Given the description of an element on the screen output the (x, y) to click on. 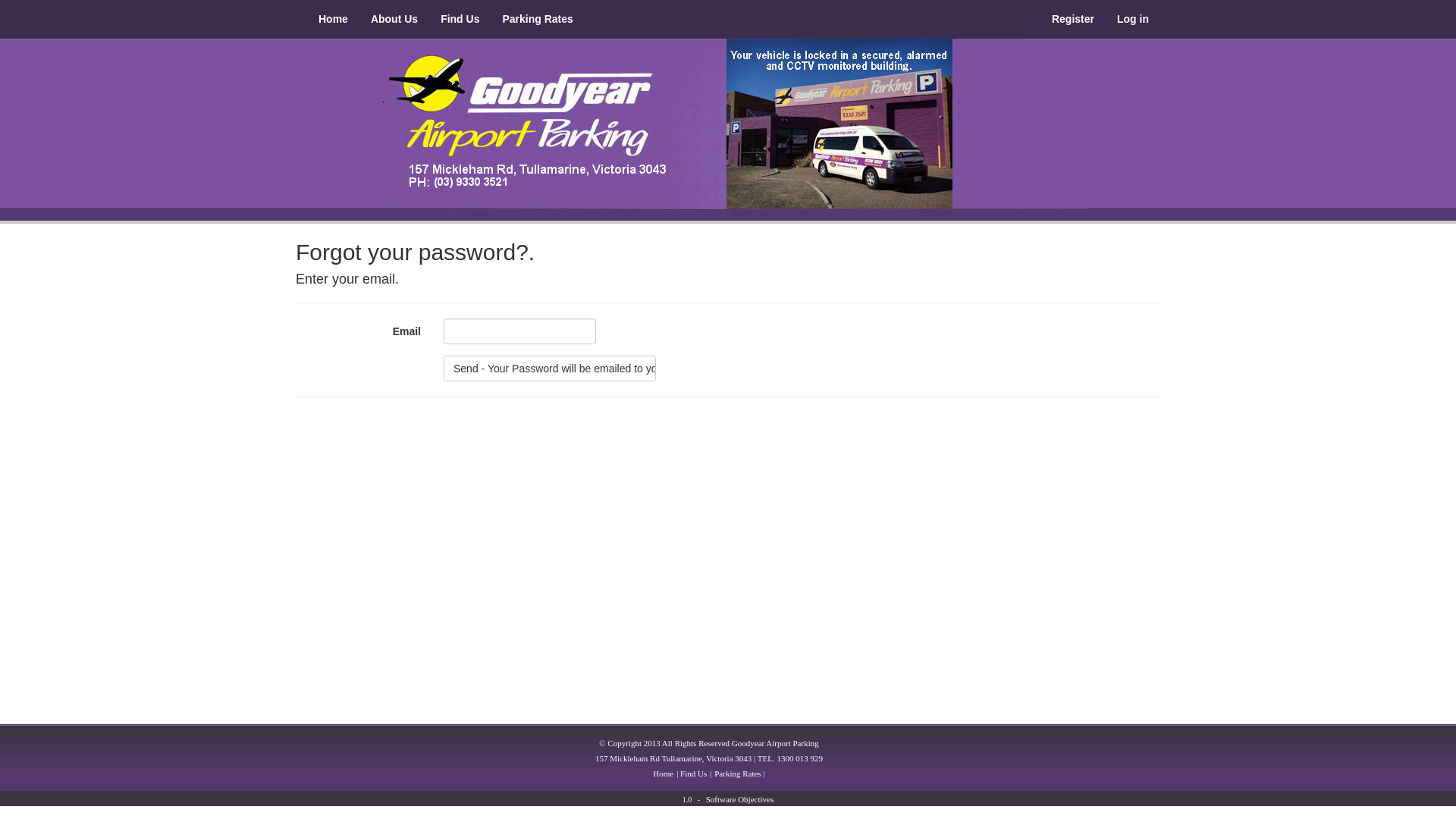
Parking Rates Element type: text (536, 18)
About Us Element type: text (394, 18)
Home Element type: text (333, 18)
Software Objectives Element type: text (740, 798)
Find Us Element type: text (459, 18)
Home Element type: text (662, 773)
Send - Your Password will be emailed to you Element type: text (549, 368)
Register Element type: text (1072, 18)
Parking Rates Element type: text (737, 773)
Find Us Element type: text (693, 773)
Log in Element type: text (1132, 18)
